Given the description of an element on the screen output the (x, y) to click on. 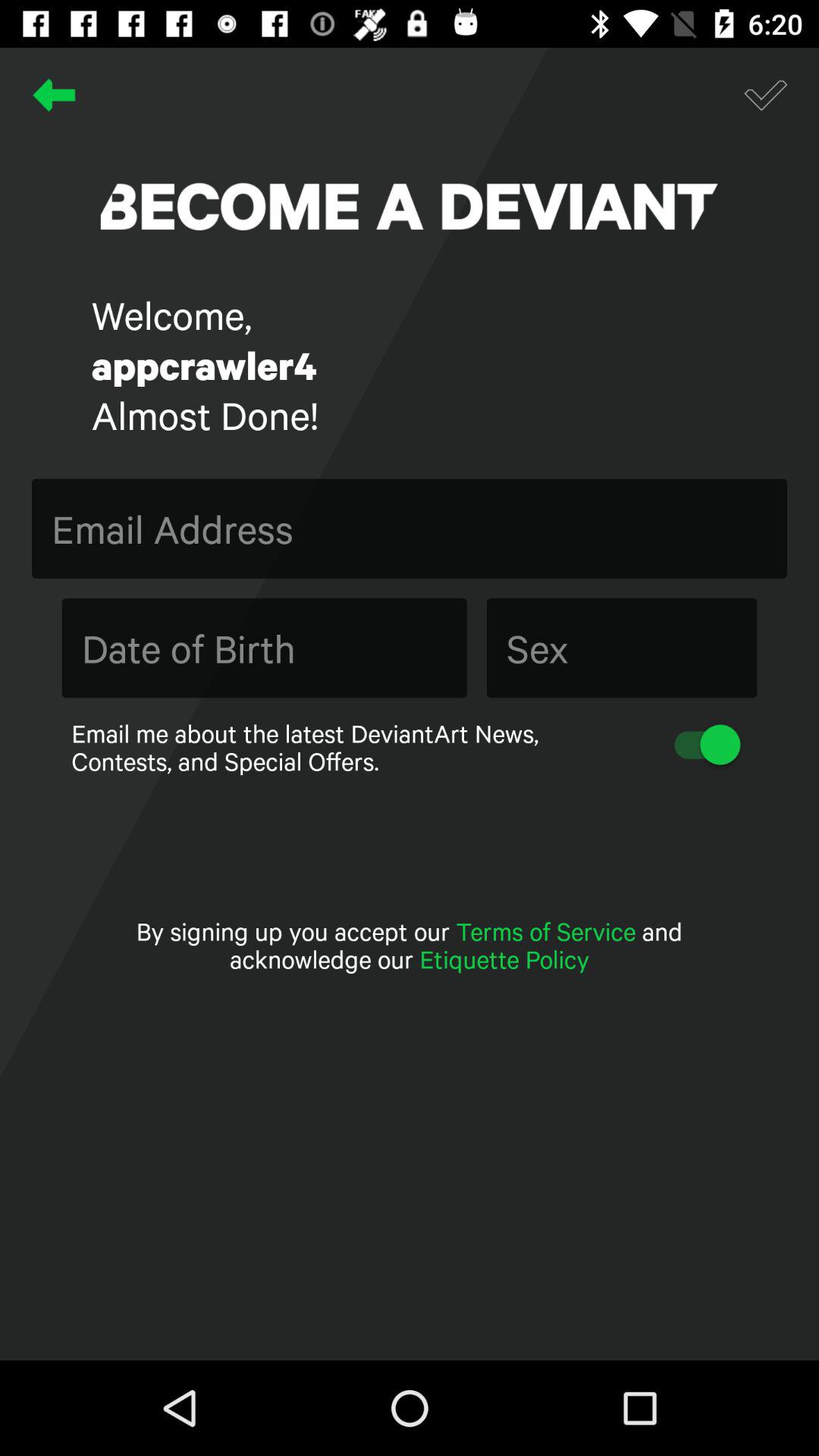
select the by signing up item (409, 944)
